Given the description of an element on the screen output the (x, y) to click on. 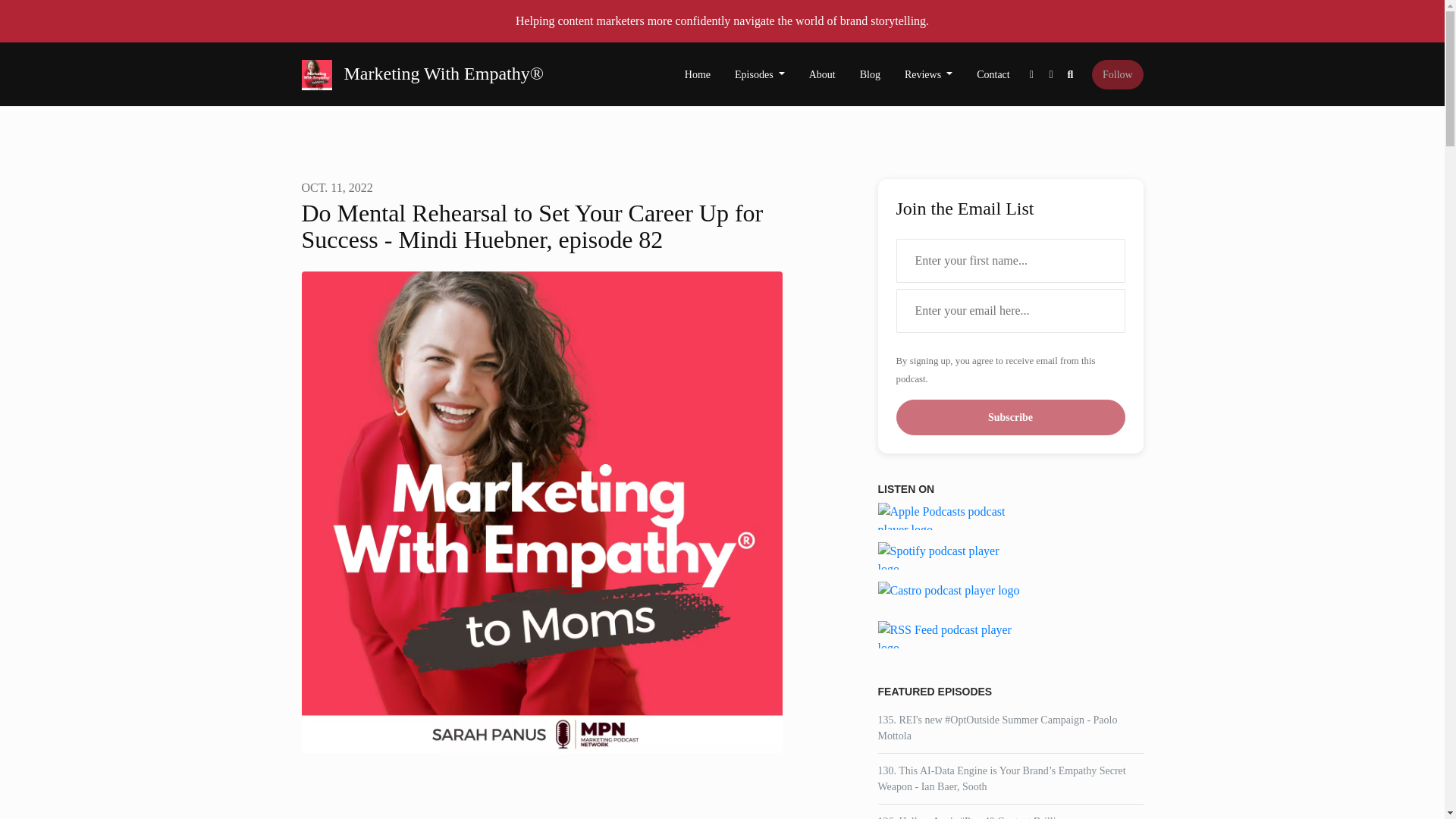
Episodes (759, 74)
Follow (1117, 74)
About (821, 74)
Reviews (927, 74)
Home (697, 74)
Blog (869, 74)
Contact (992, 74)
